Given the description of an element on the screen output the (x, y) to click on. 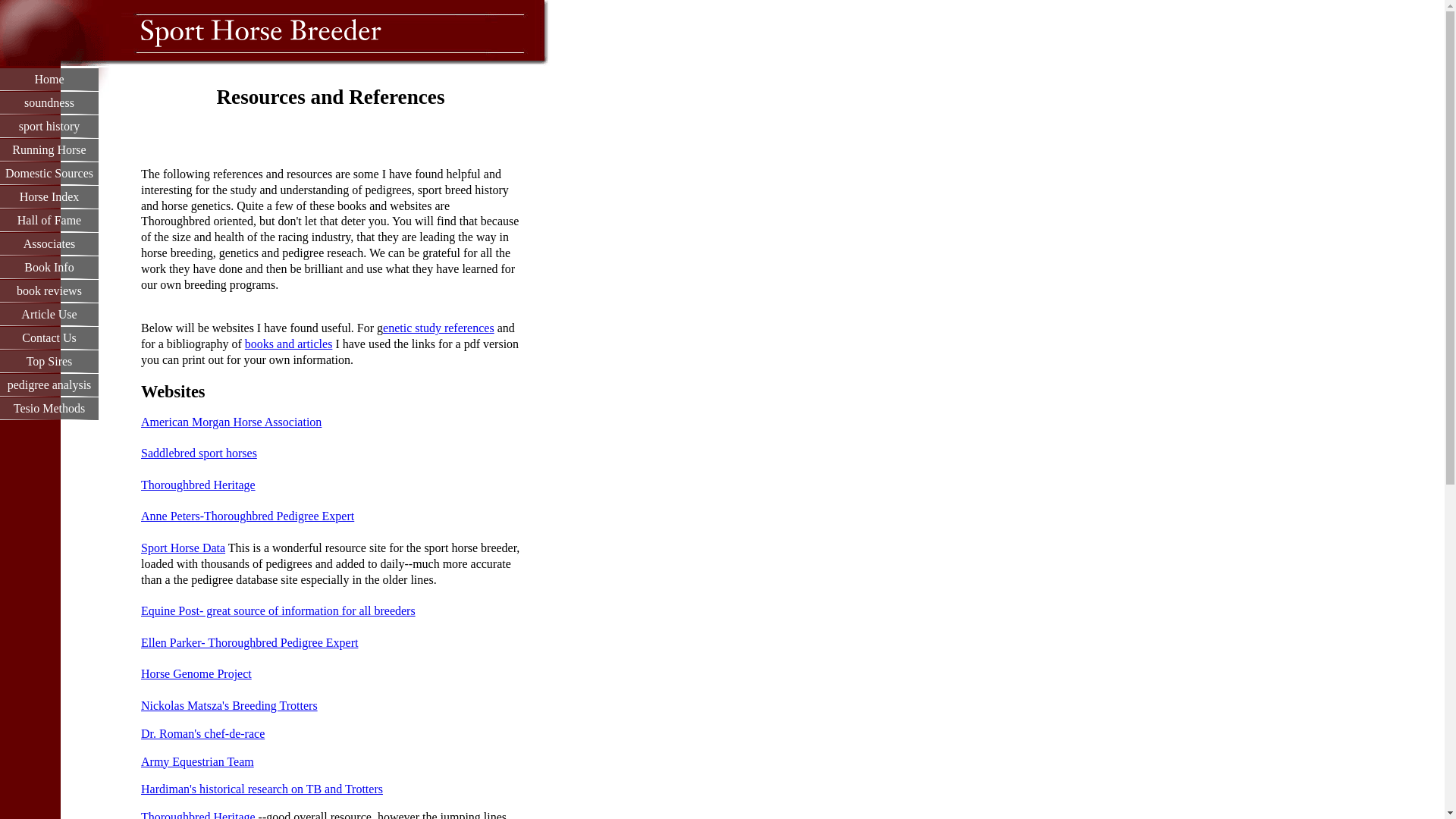
Horse Index (49, 196)
Dr. Roman's chef-de-race (202, 733)
Hall of Fame (49, 219)
Article Use (49, 313)
Tesio Methods (49, 408)
Book Info (49, 267)
Domestic Sources (49, 173)
Ellen Parker- Thoroughbred Pedigree Expert (249, 642)
Army Equestrian Team (197, 761)
Home (49, 78)
Contact Us (49, 337)
Equine Post- great source of information for all breeders (277, 610)
American Morgan Horse Association (231, 421)
Associates (49, 243)
Running Horse (49, 149)
